Given the description of an element on the screen output the (x, y) to click on. 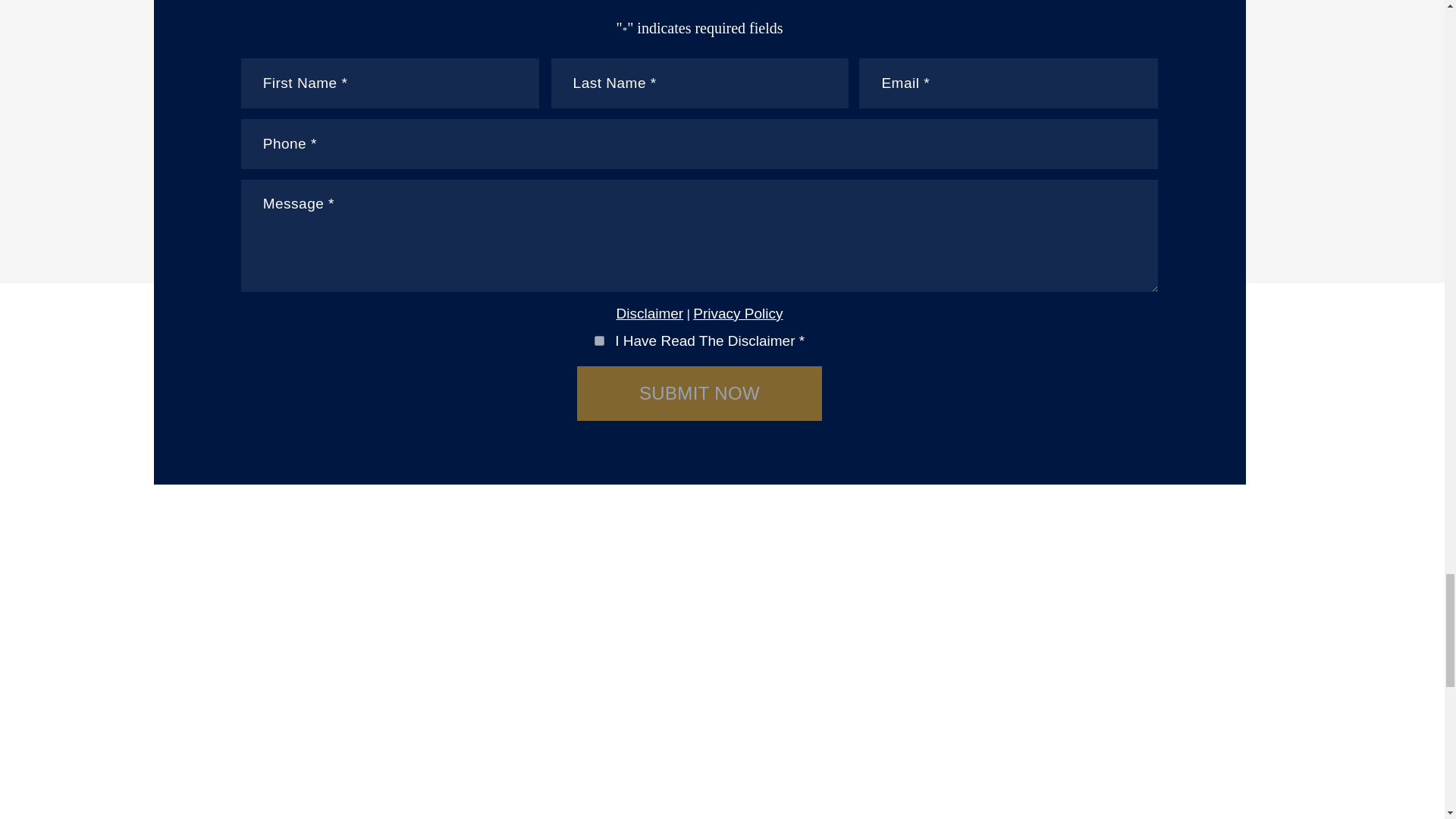
Submit Now (699, 393)
